Given the description of an element on the screen output the (x, y) to click on. 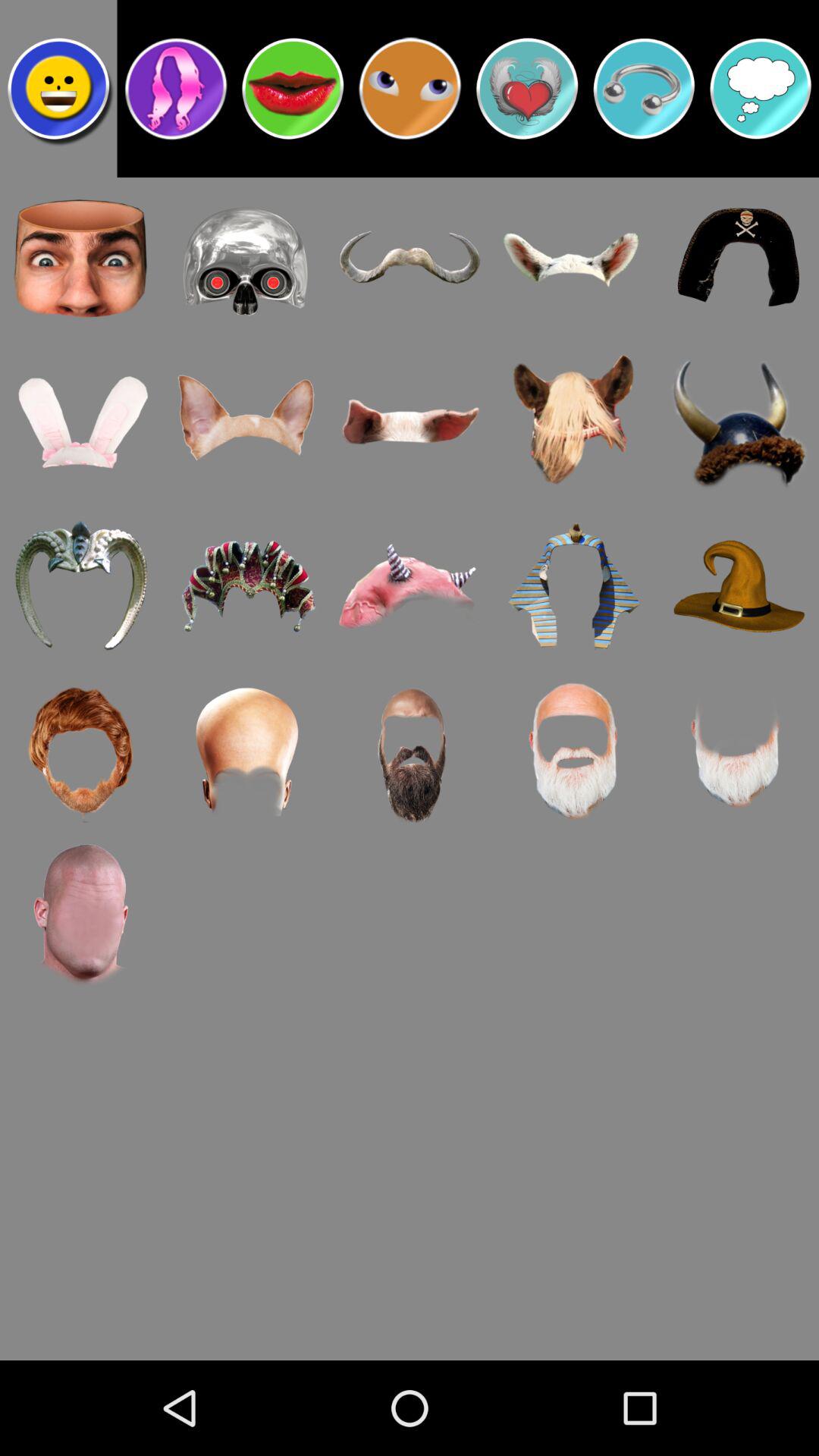
choose mouth (292, 88)
